Given the description of an element on the screen output the (x, y) to click on. 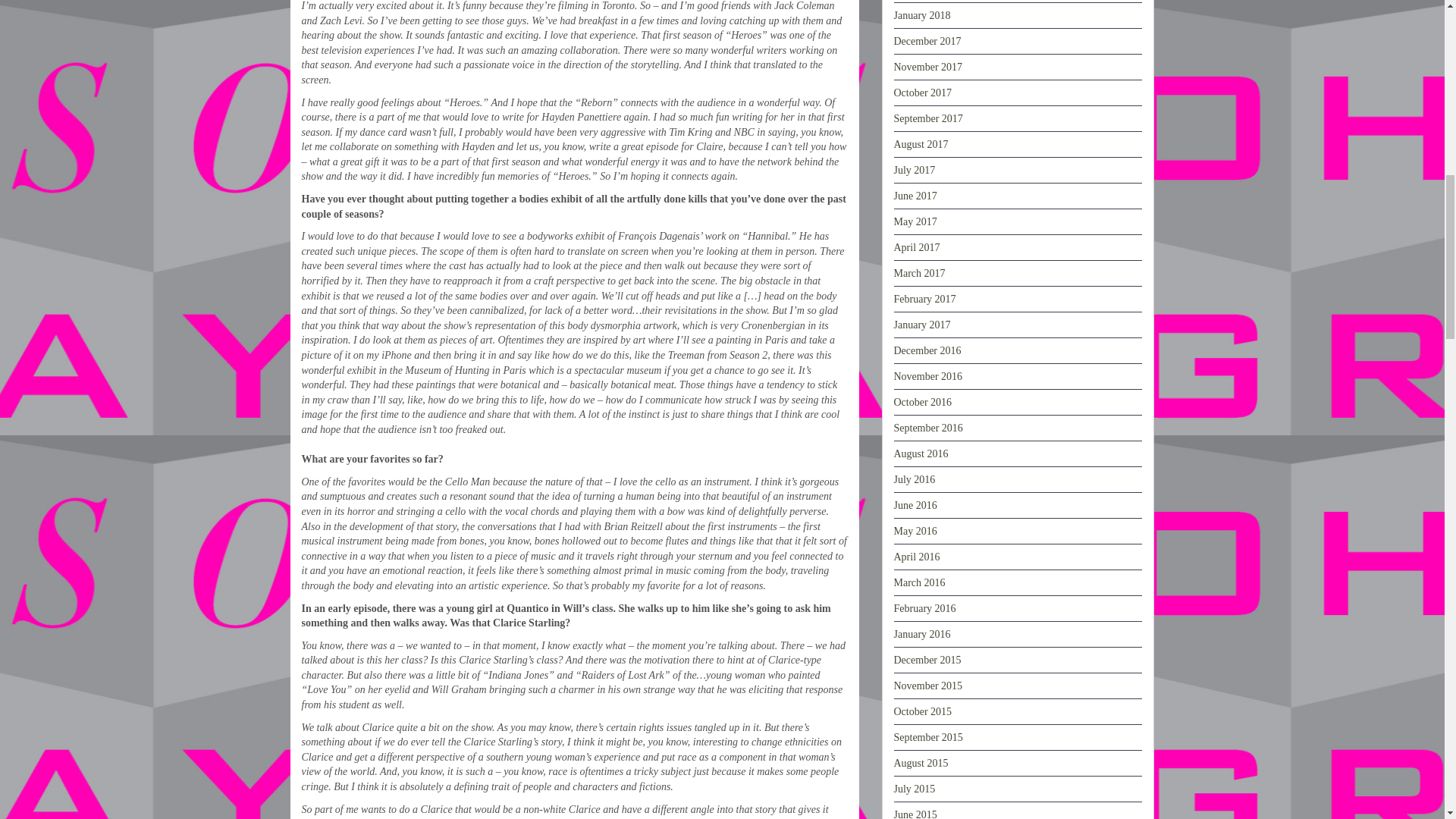
January 2018 (921, 15)
October 2017 (922, 92)
November 2017 (927, 66)
December 2017 (926, 41)
